Given the description of an element on the screen output the (x, y) to click on. 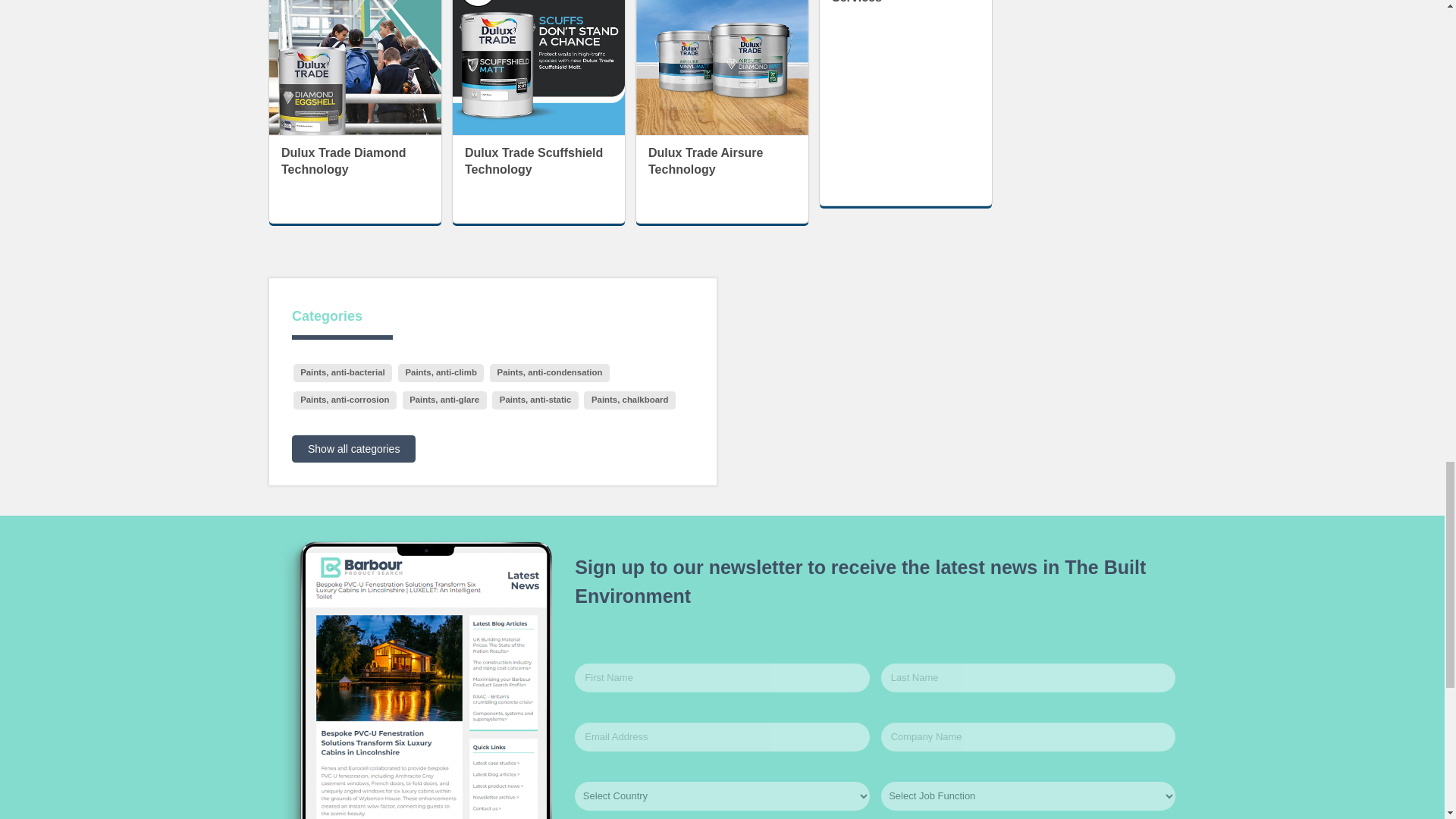
Visit ...  (343, 161)
Dulux Trade Diamond Technology (355, 67)
Visit ...  (355, 47)
